Given the description of an element on the screen output the (x, y) to click on. 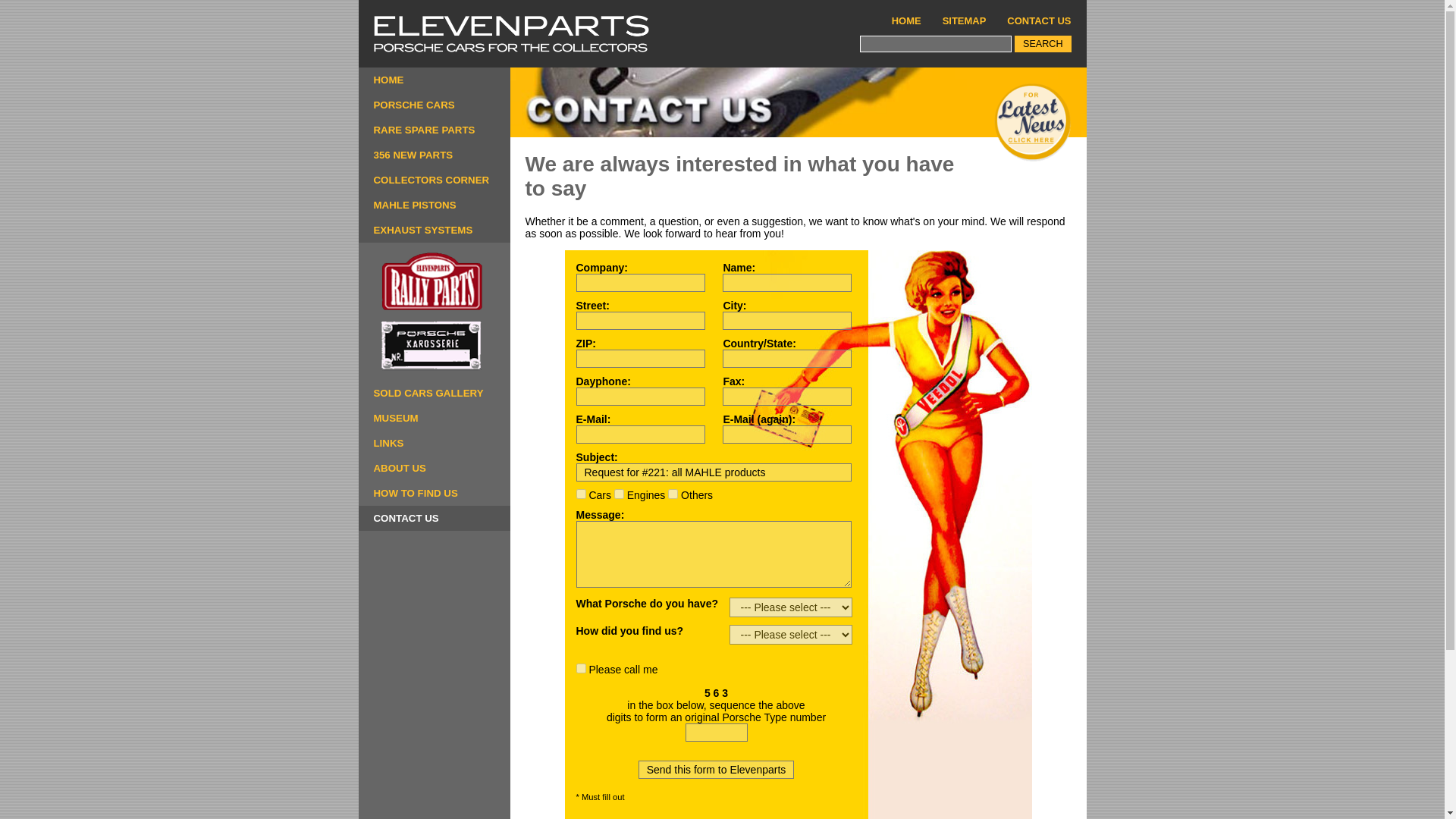
PORSCHE CARS (433, 104)
Send this form to Elevenparts (716, 769)
MAHLE PISTONS (433, 204)
yes (581, 668)
HOME (433, 79)
LINKS (433, 442)
CONTACT US (433, 518)
356 NEW PARTS (433, 154)
EXHAUST SYSTEMS (433, 229)
RARE SPARE PARTS (433, 129)
